Given the description of an element on the screen output the (x, y) to click on. 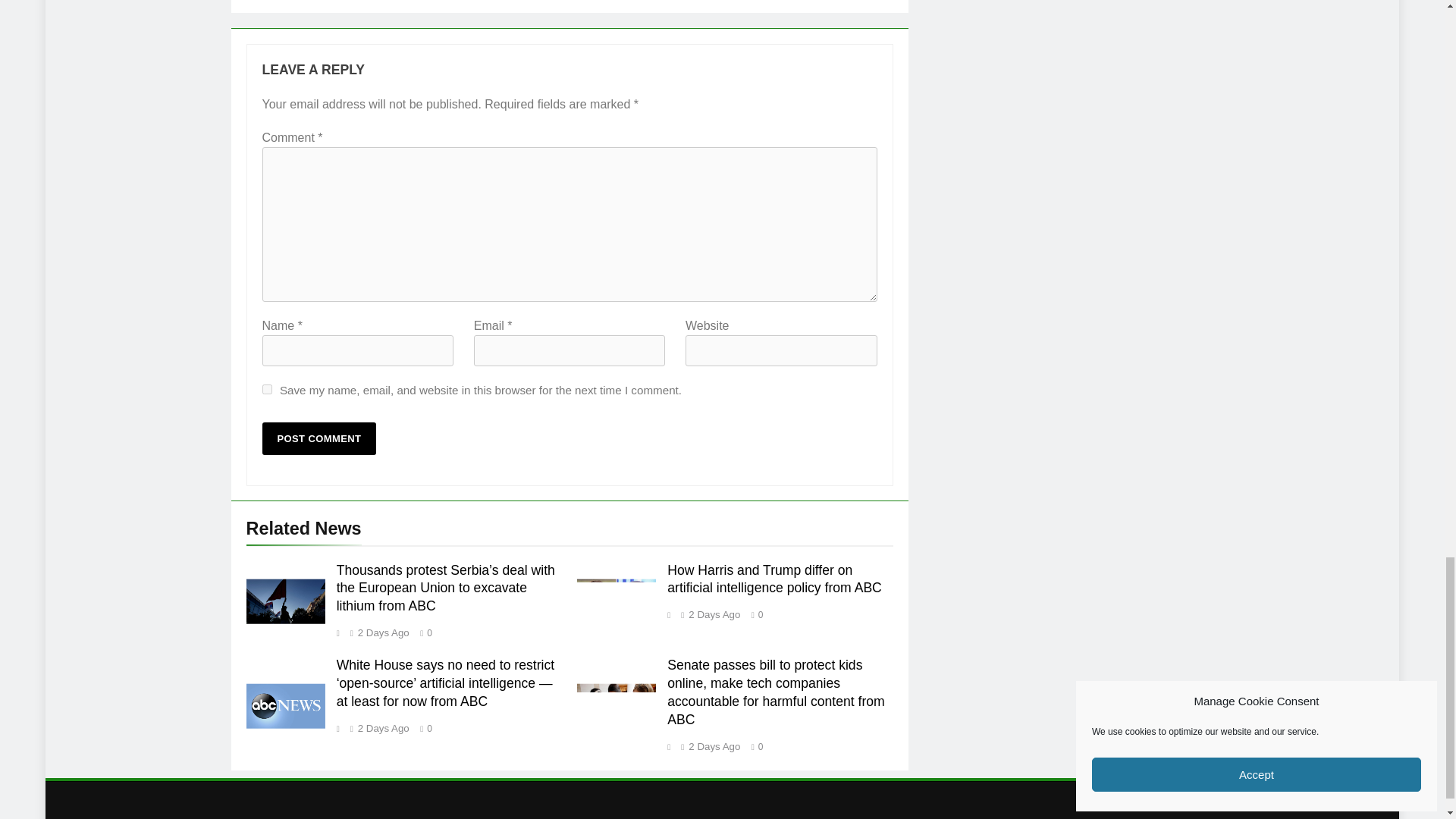
yes (267, 388)
Post Comment (319, 438)
